Given the description of an element on the screen output the (x, y) to click on. 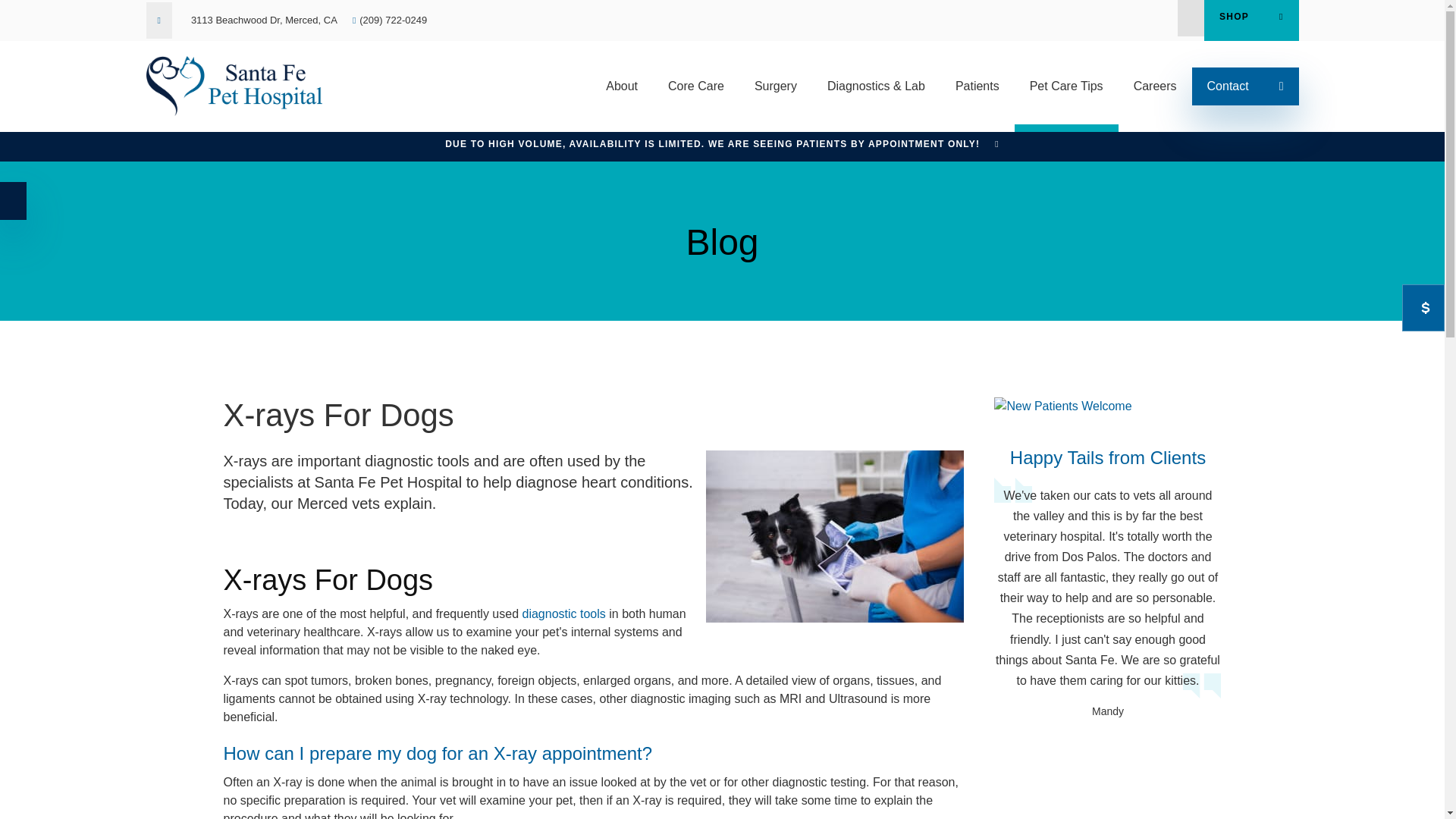
SHOP (1251, 20)
Core Care (695, 85)
3113 Beachwood Dr Merced CA (263, 19)
